Given the description of an element on the screen output the (x, y) to click on. 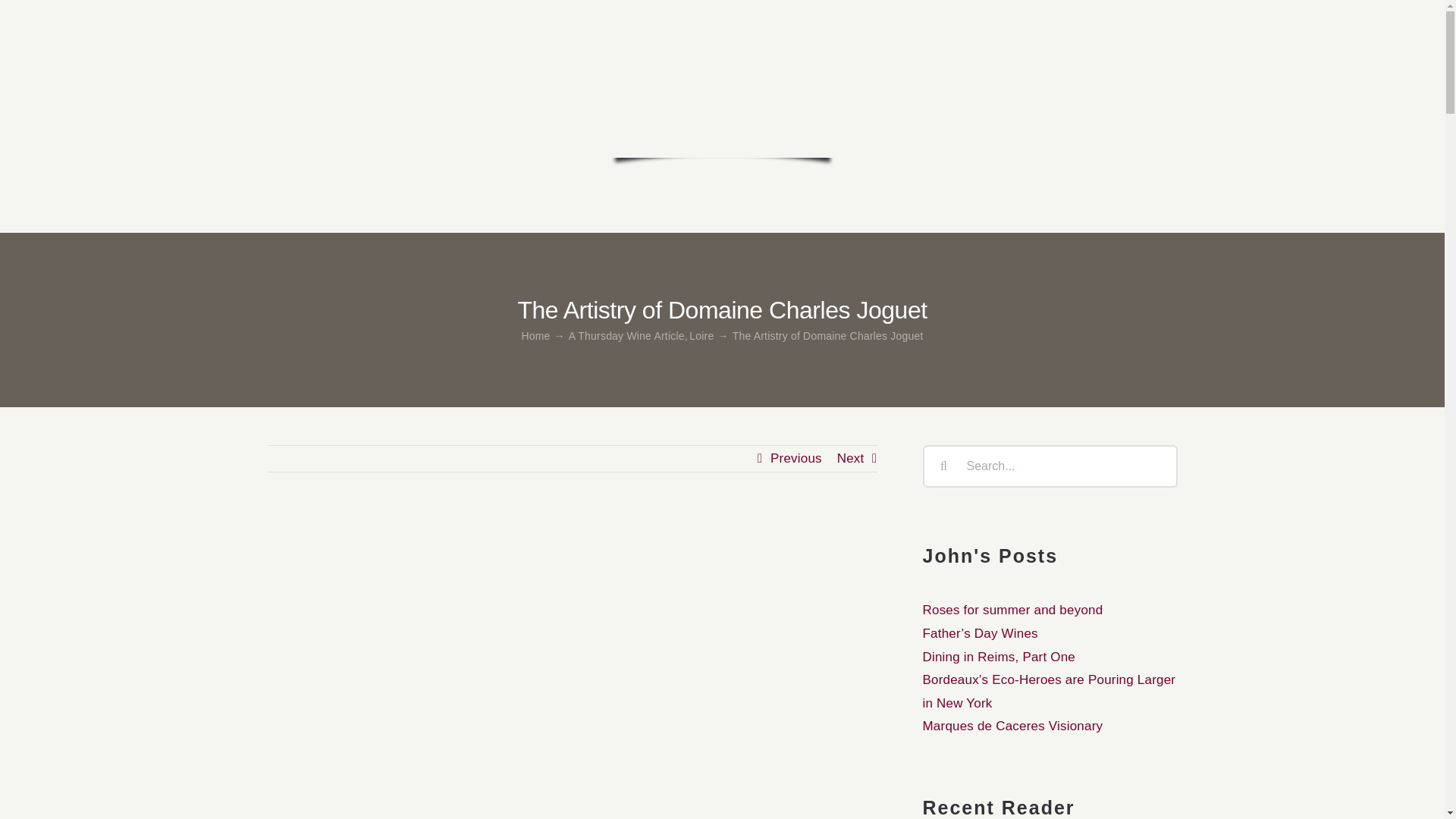
A Thursday Wine Article (626, 336)
Loire (700, 336)
Home (535, 336)
Next (850, 458)
Previous (796, 458)
